Given the description of an element on the screen output the (x, y) to click on. 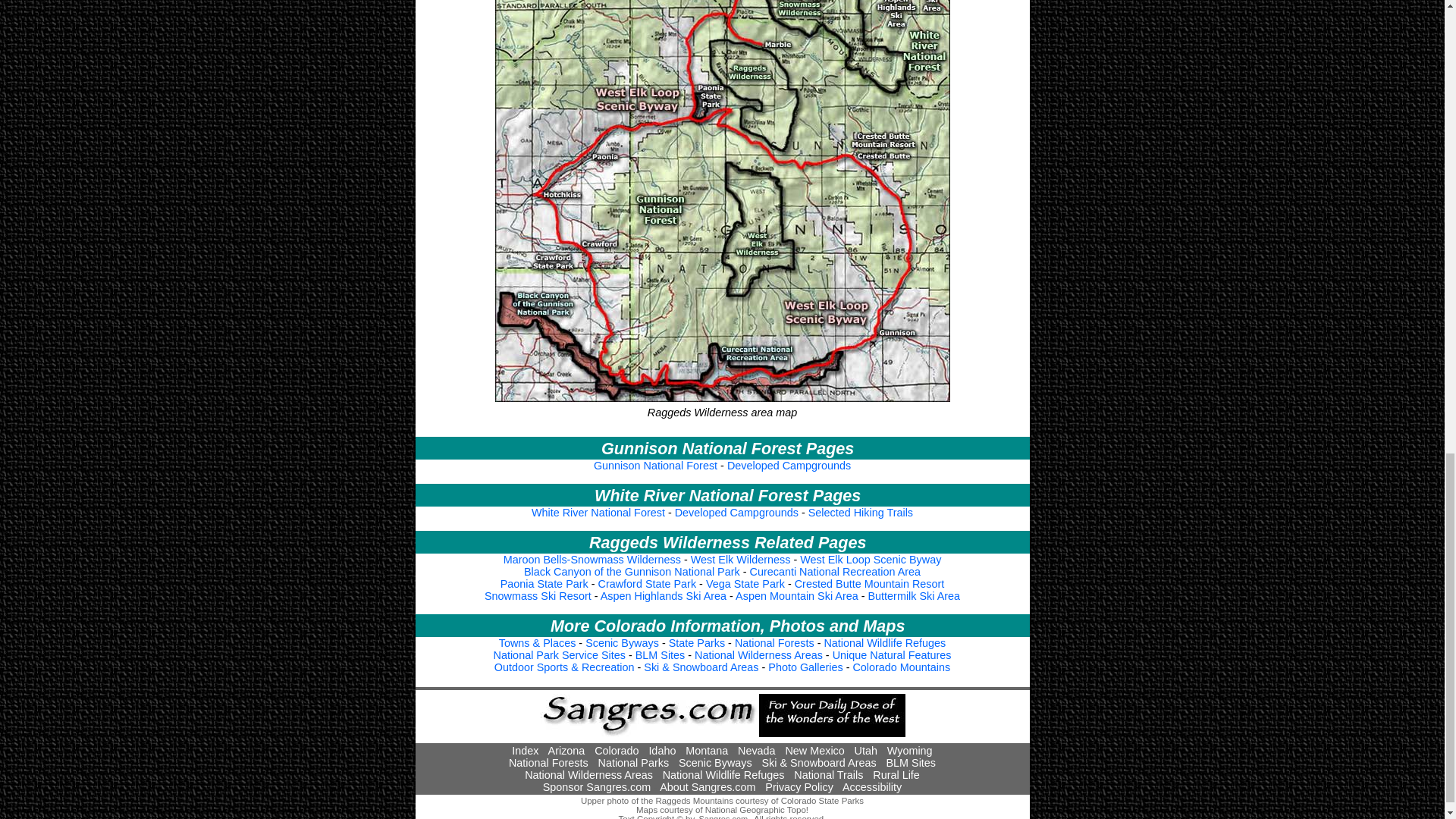
Developed Campgrounds (788, 465)
National Park Service Sites (559, 654)
Curecanti National Recreation Area (834, 571)
Aspen Mountain Ski Area (797, 595)
State Parks (696, 643)
Scenic Byways (622, 643)
Gunnison National Forest (655, 465)
Crested Butte Mountain Resort (869, 583)
Snowmass Ski Resort (537, 595)
National Forests (774, 643)
